Given the description of an element on the screen output the (x, y) to click on. 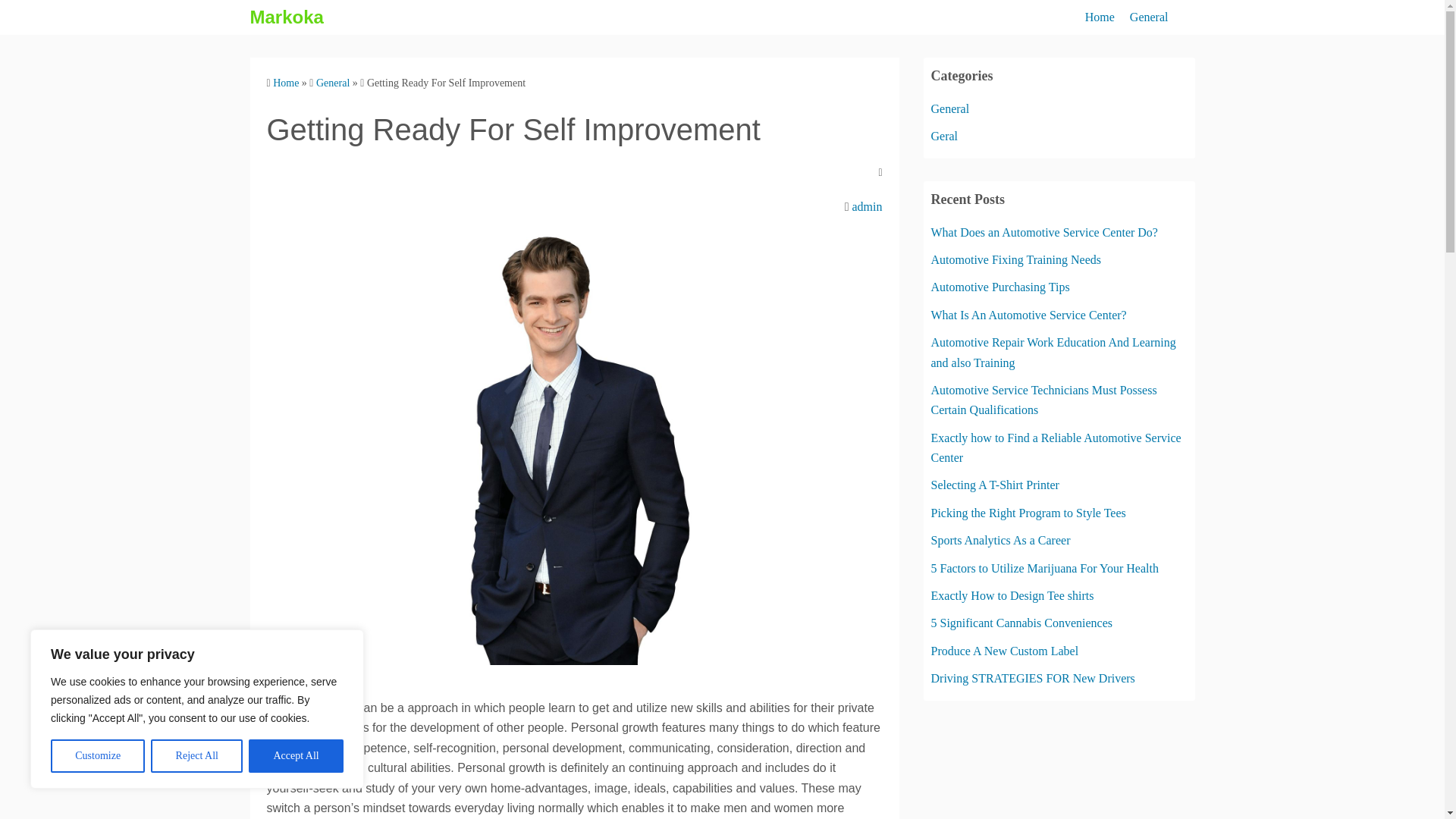
admin (866, 205)
Markoka (286, 16)
Reject All (197, 756)
Geral (944, 135)
Home (285, 82)
General (1149, 17)
General (950, 108)
Customize (97, 756)
Accept All (295, 756)
General (332, 82)
What Does an Automotive Service Center Do? (1044, 232)
